Given the description of an element on the screen output the (x, y) to click on. 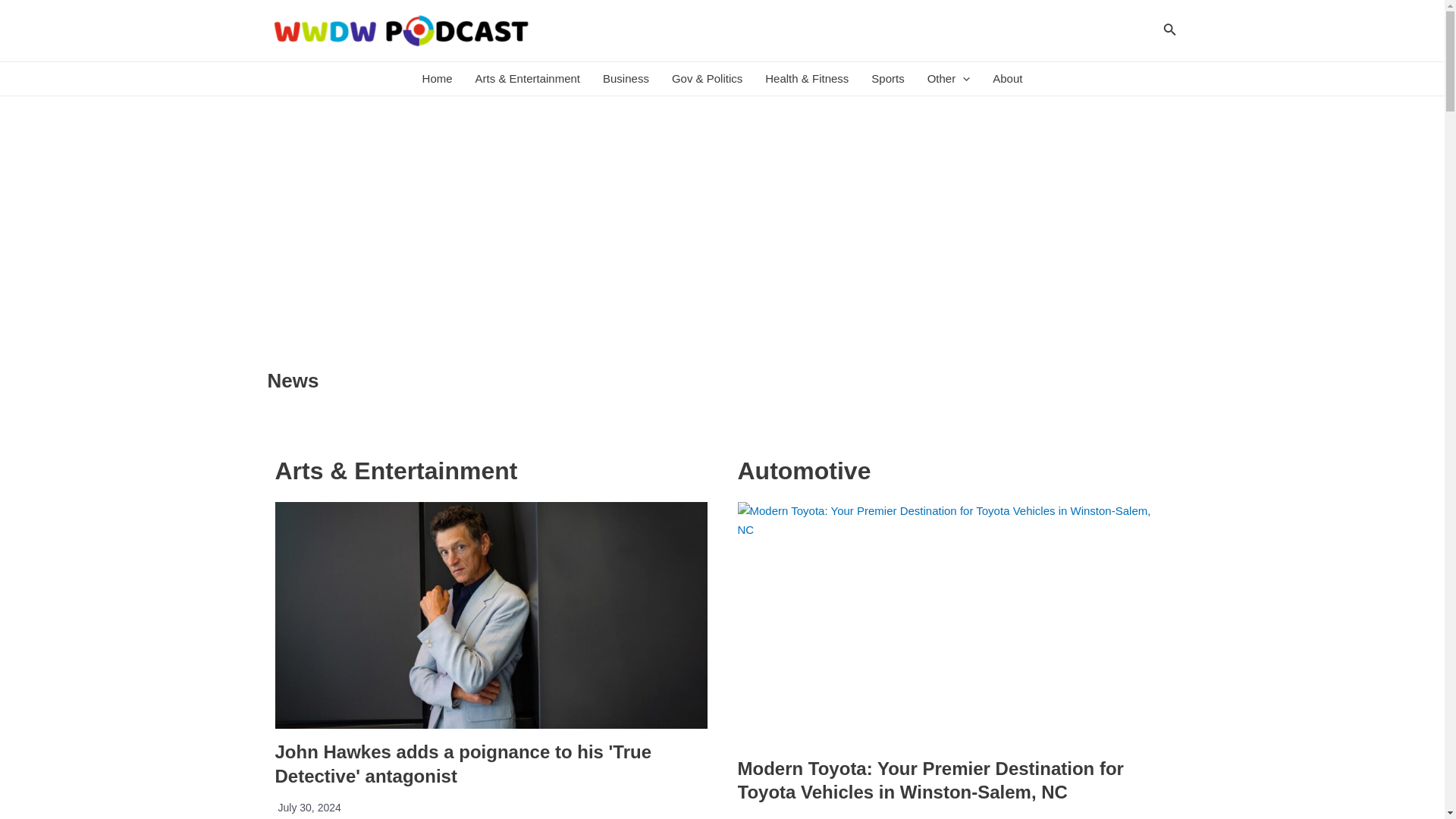
Business (626, 78)
About (1007, 78)
Home (437, 78)
Other (948, 78)
Sports (887, 78)
